Given the description of an element on the screen output the (x, y) to click on. 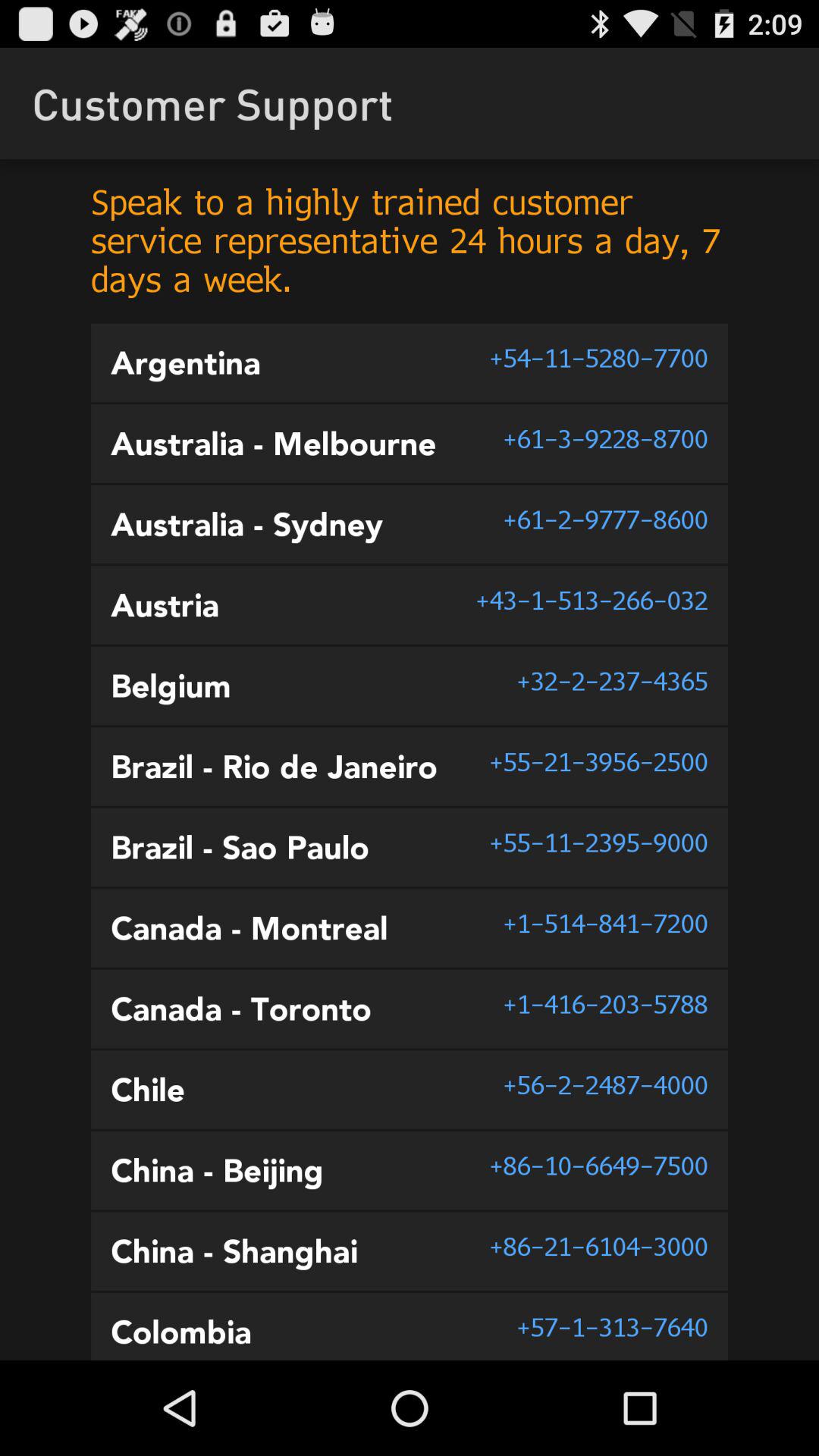
open the 43 1 513 (592, 599)
